Given the description of an element on the screen output the (x, y) to click on. 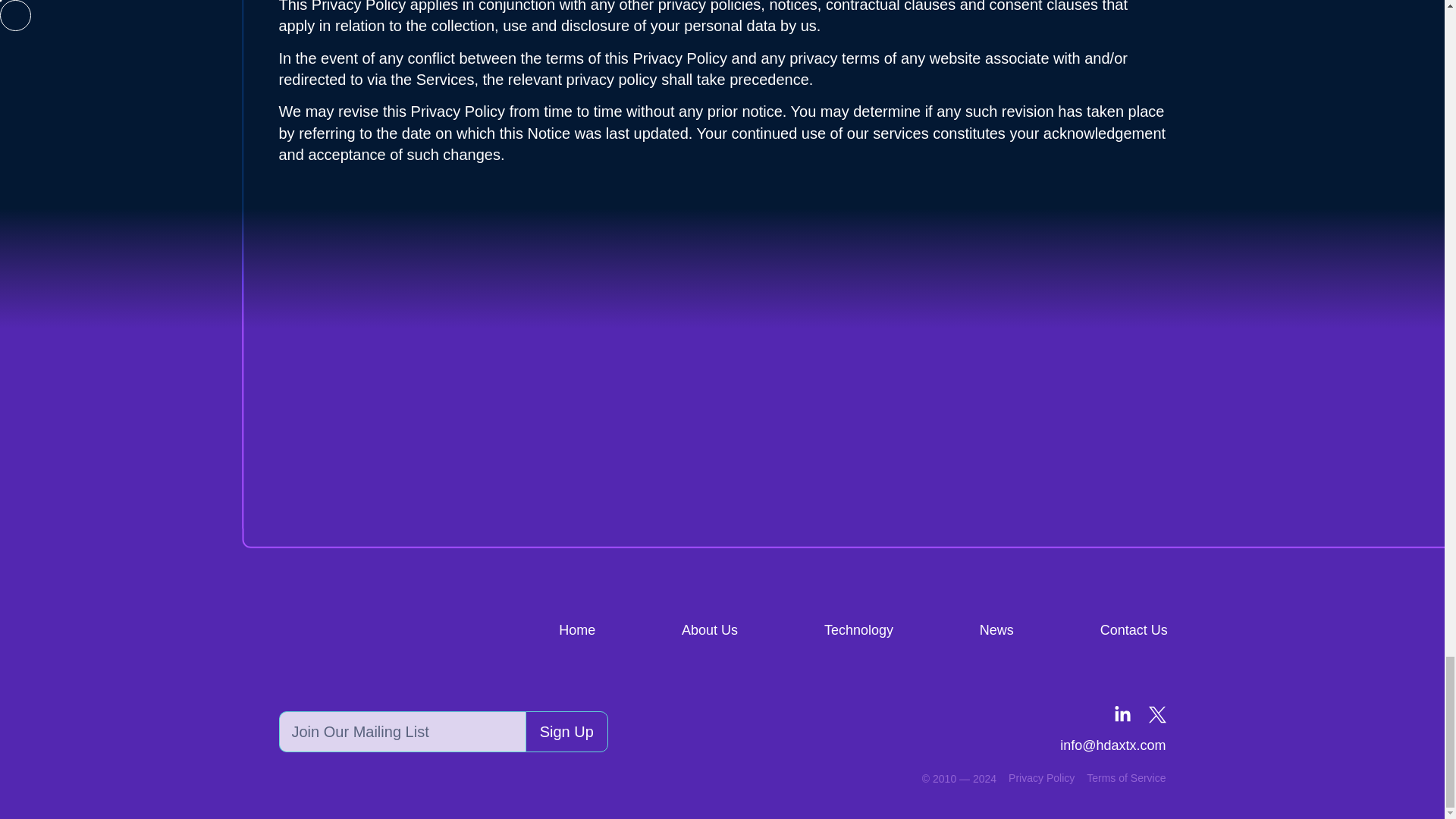
Sign Up (566, 731)
About Us (709, 630)
Contact Us (1133, 630)
News (996, 630)
Technology (858, 630)
Home (577, 630)
